Given the description of an element on the screen output the (x, y) to click on. 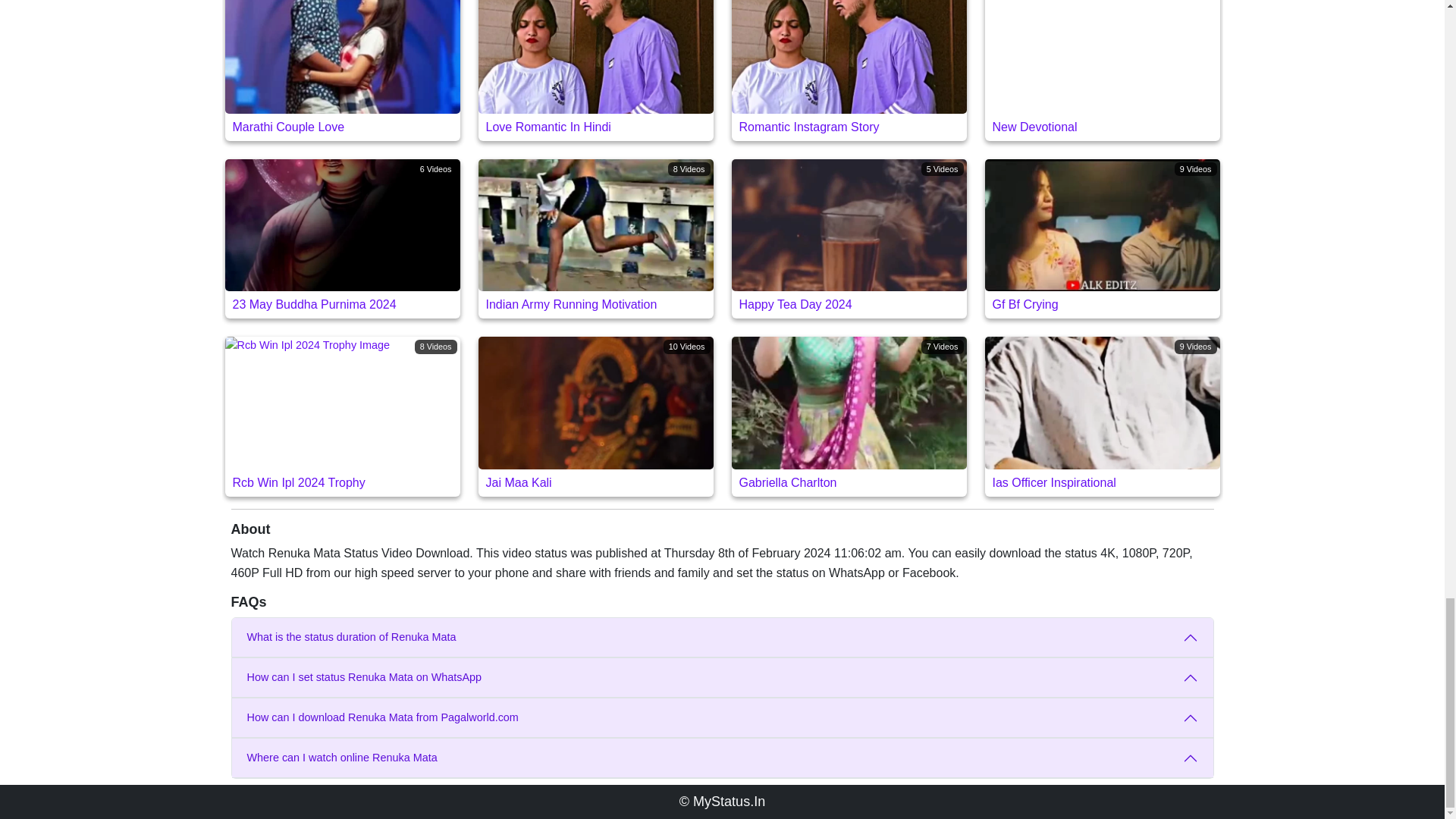
How can I download Renuka Mata from Pagalworld.com (721, 717)
How can I set status Renuka Mata on WhatsApp (721, 677)
MyStatus.In (342, 416)
Where can I watch online Renuka Mata (848, 70)
What is the status duration of Renuka Mata (729, 801)
